Given the description of an element on the screen output the (x, y) to click on. 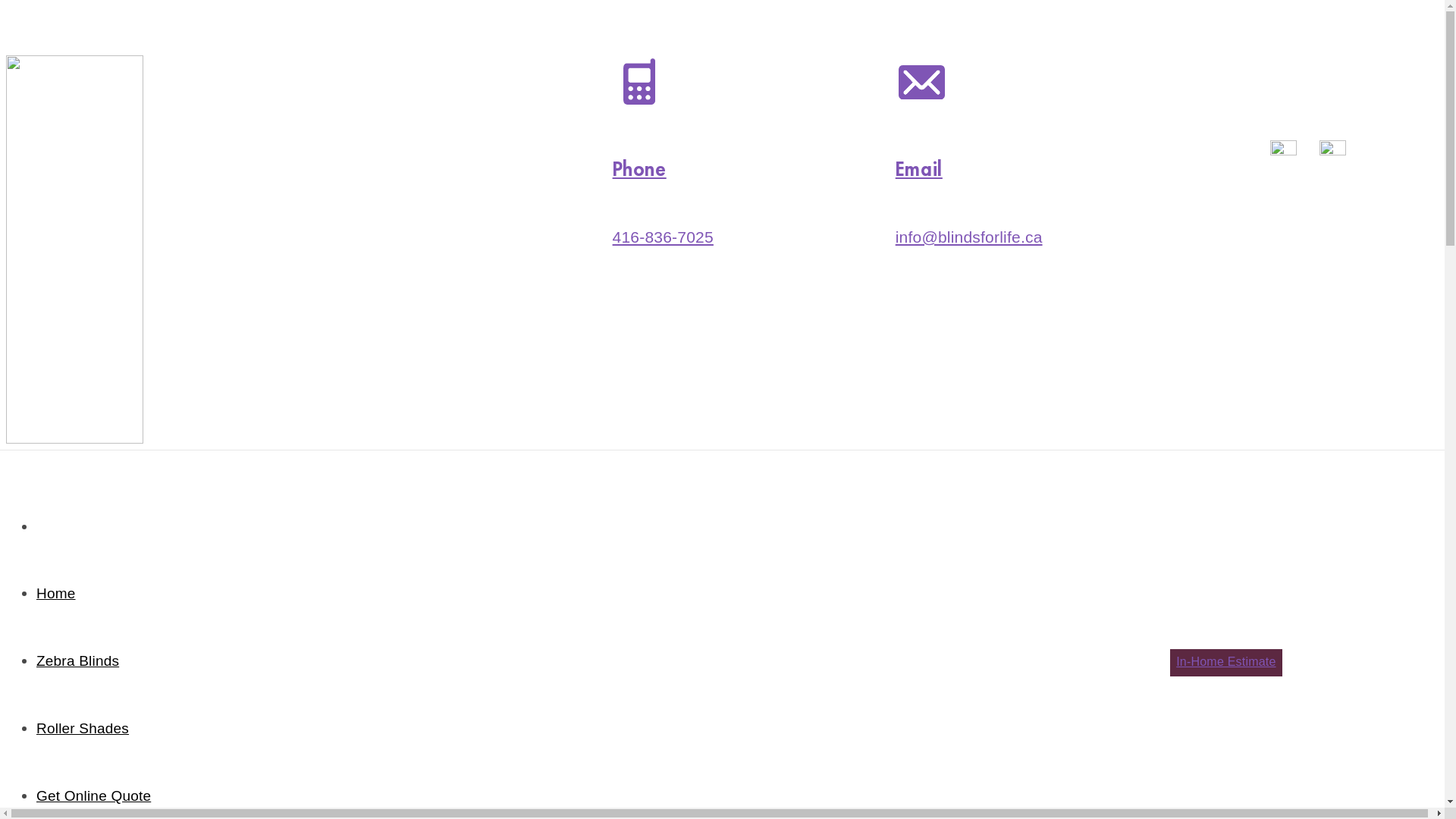
Phone Element type: text (639, 169)
Home Element type: text (55, 593)
Get Online Quote Element type: text (93, 795)
416-836-7025 Element type: text (662, 235)
In-Home Estimate Element type: text (1225, 662)
Roller Shades Element type: text (82, 728)
info@blindsforlife.ca Element type: text (968, 235)
Zebra Blinds Element type: text (77, 660)
Email Element type: text (918, 169)
